Given the description of an element on the screen output the (x, y) to click on. 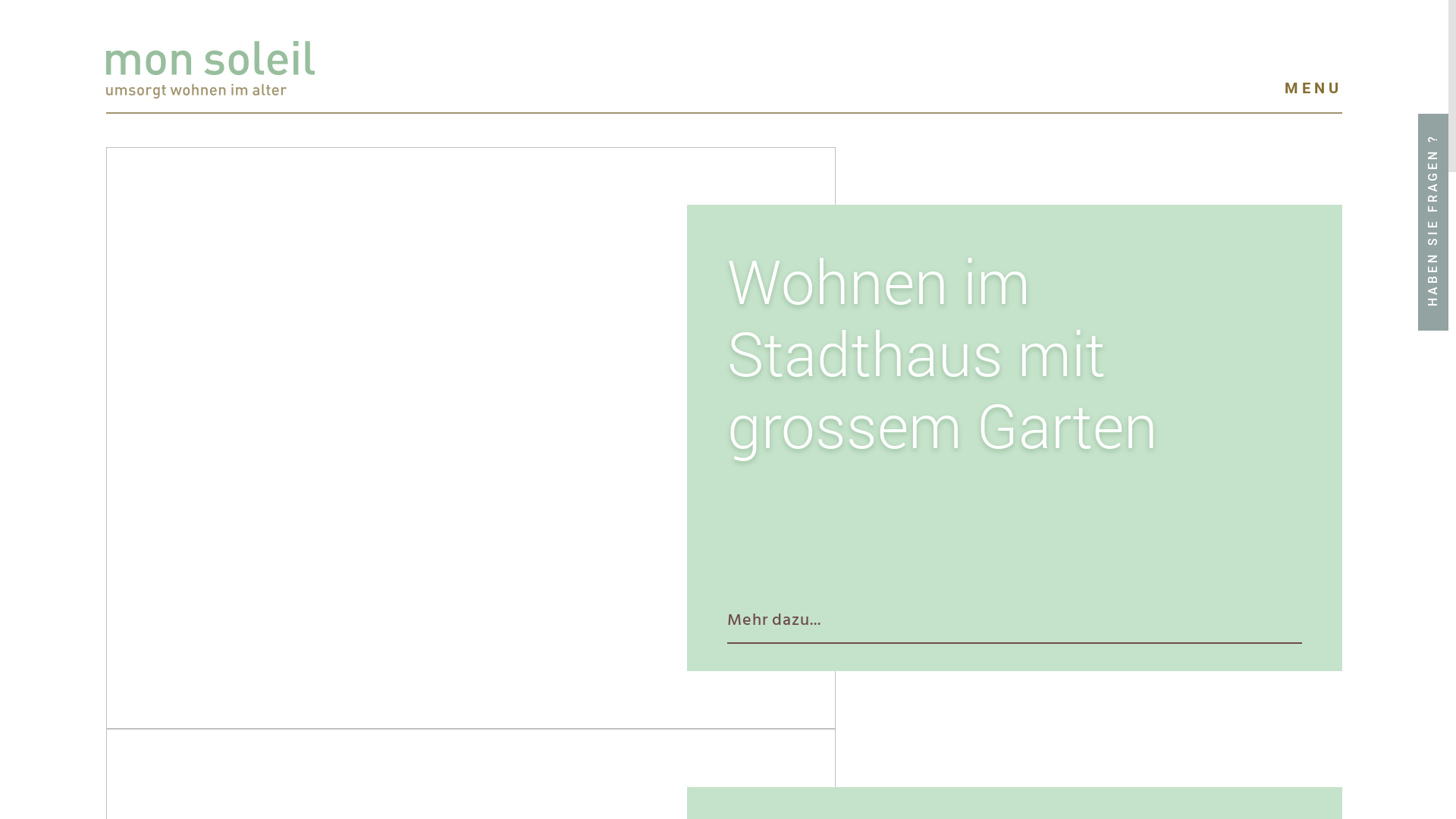
Mehr dazu... Element type: text (774, 620)
